Given the description of an element on the screen output the (x, y) to click on. 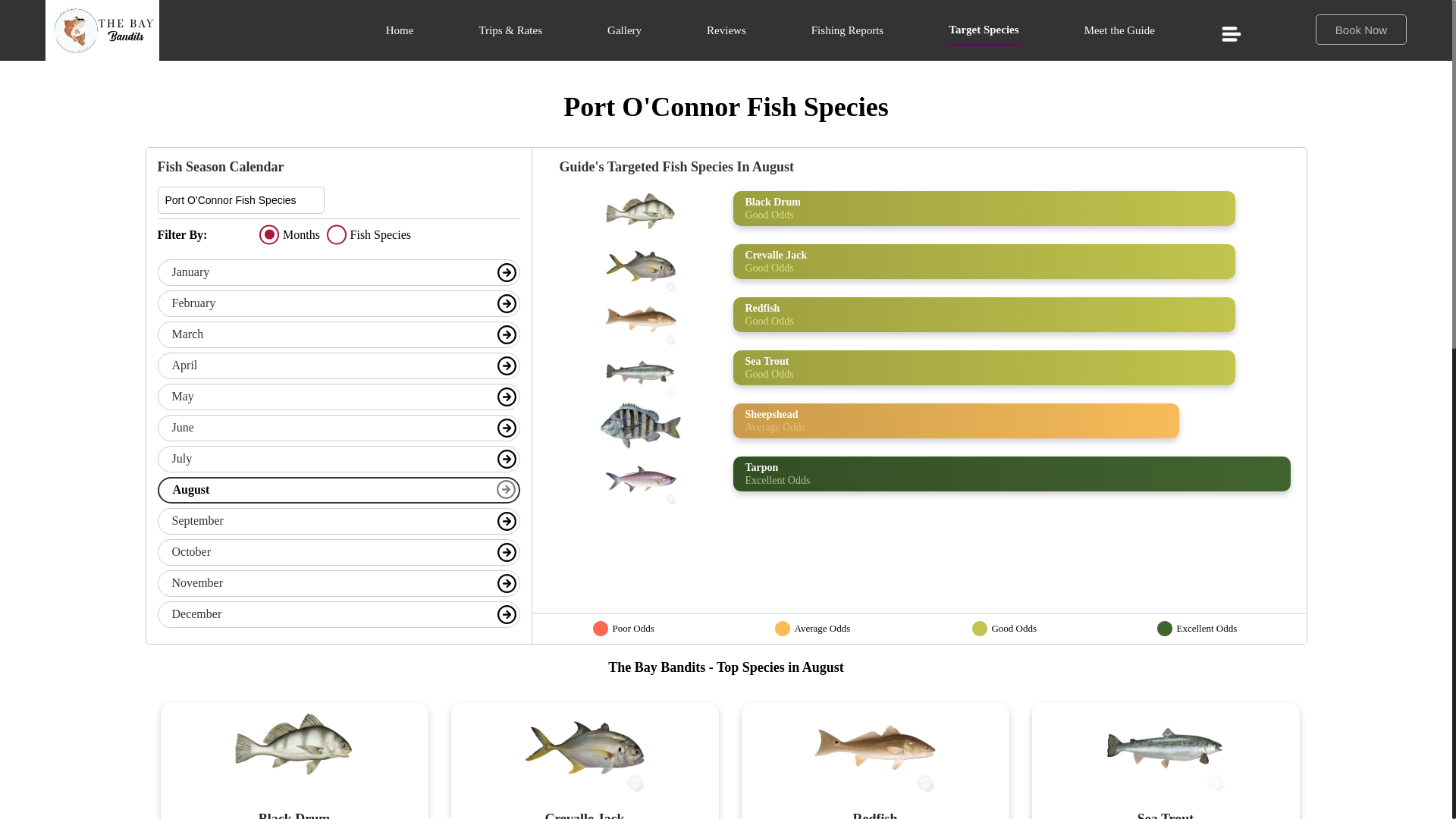
Book Now (1356, 33)
Home (399, 34)
1 (269, 234)
Gallery (624, 34)
Target Species (983, 33)
Port O'Connor Fish Species (240, 199)
Reviews (725, 34)
Meet the Guide (1119, 34)
2 (336, 234)
Book Now (1361, 29)
Fishing Reports (846, 34)
